Given the description of an element on the screen output the (x, y) to click on. 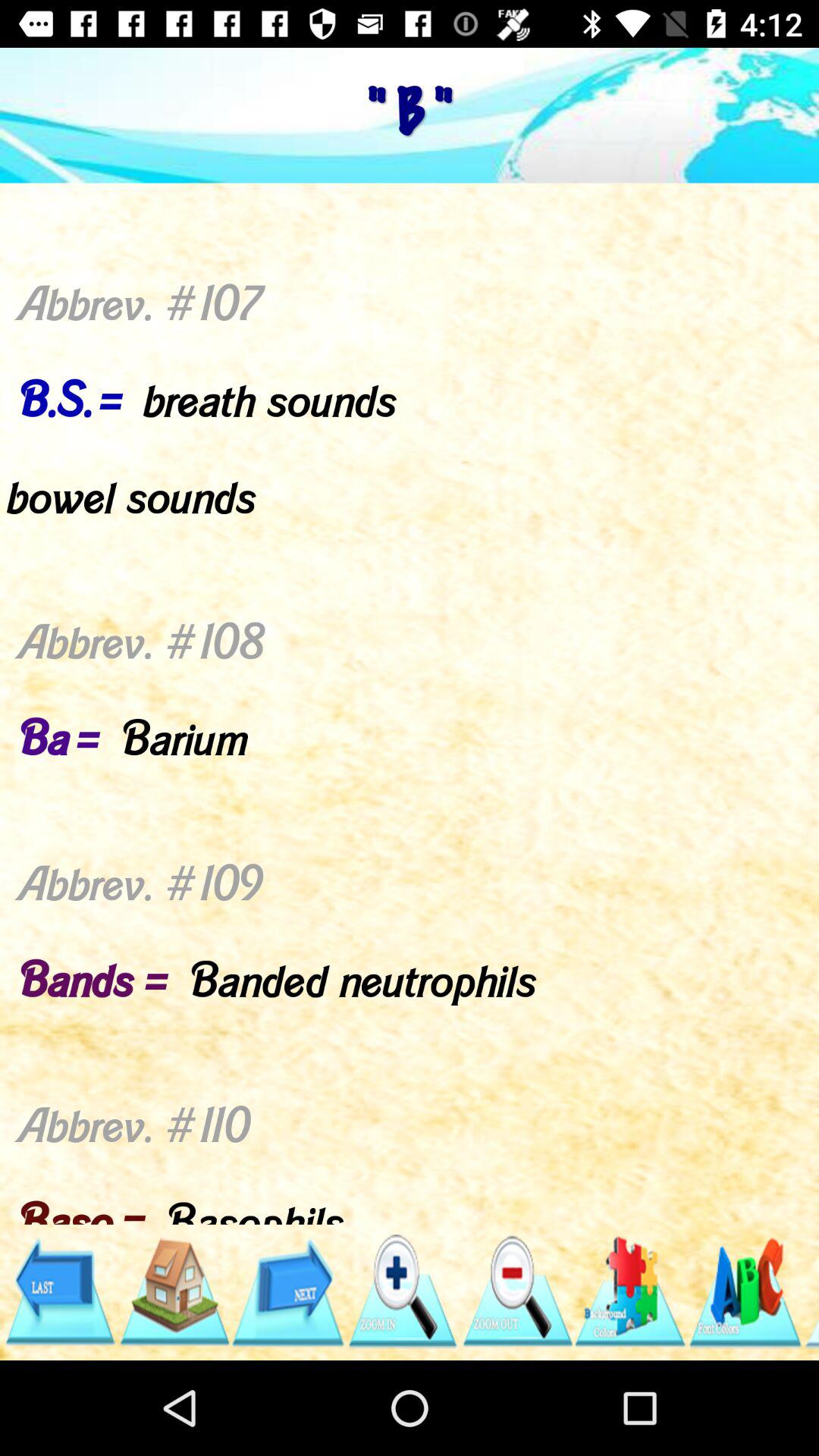
zoom in (402, 1291)
